Given the description of an element on the screen output the (x, y) to click on. 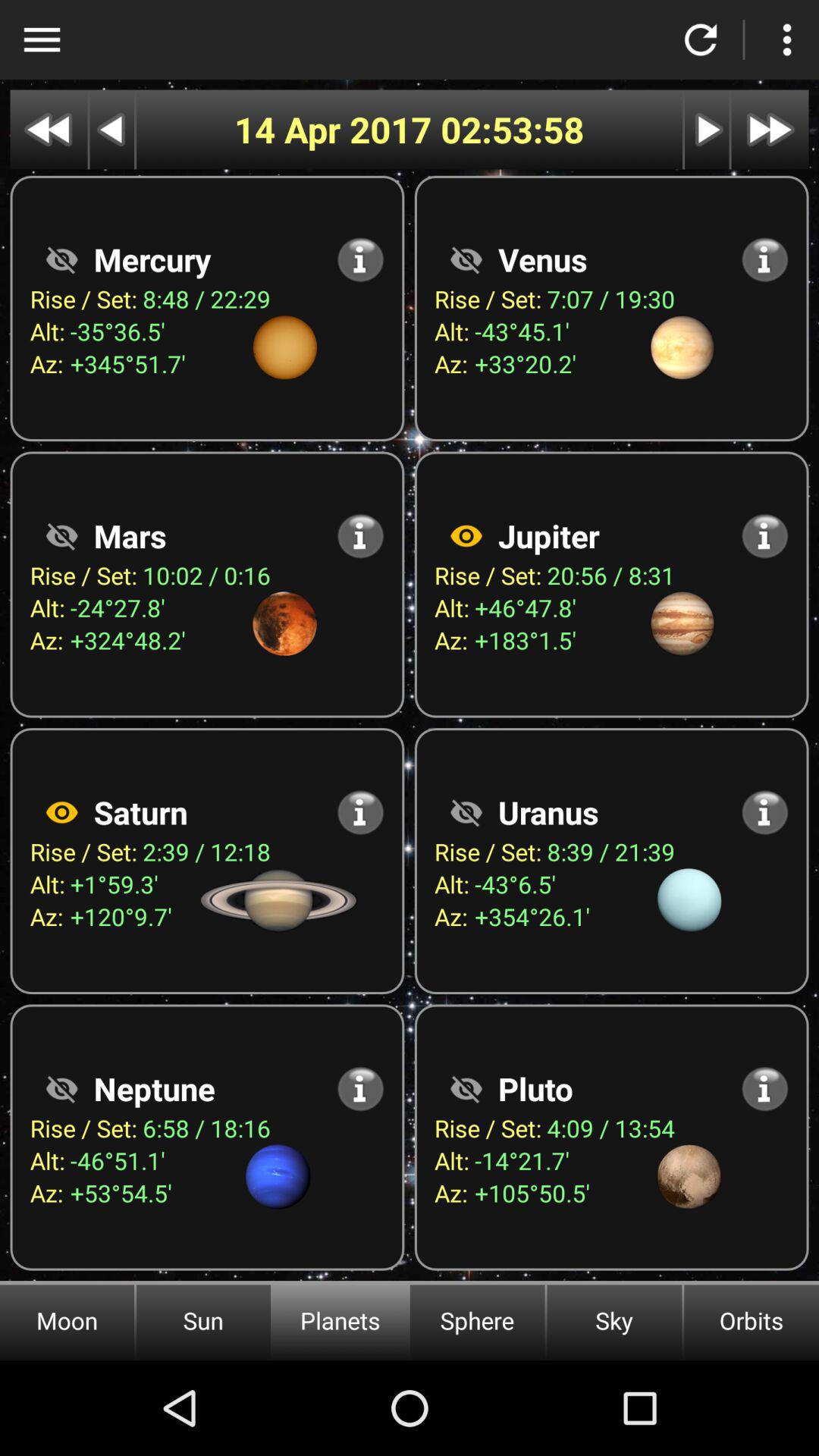
toggle view (466, 1088)
